Given the description of an element on the screen output the (x, y) to click on. 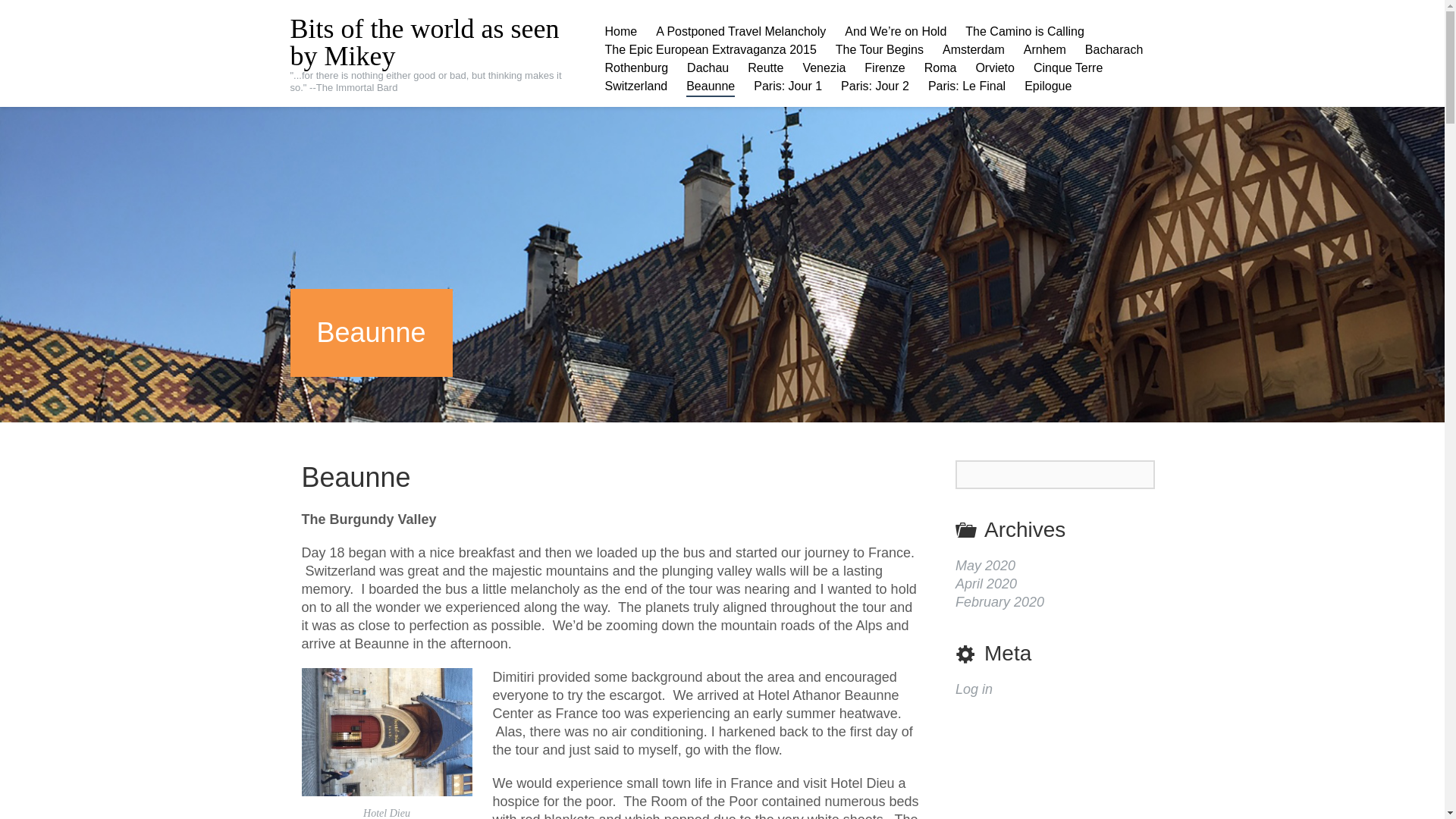
Venezia (823, 67)
Switzerland (635, 85)
A Postponed Travel Melancholy (740, 31)
Paris: Le Final (967, 85)
Home (620, 31)
Amsterdam (973, 49)
Paris: Jour 2 (874, 85)
April 2020 (985, 583)
Dachau (708, 67)
Rothenburg (636, 67)
Cinque Terre (1067, 67)
The Epic European Extravaganza 2015 (709, 49)
Epilogue (1048, 85)
Firenze (884, 67)
Home Page Link (620, 31)
